Given the description of an element on the screen output the (x, y) to click on. 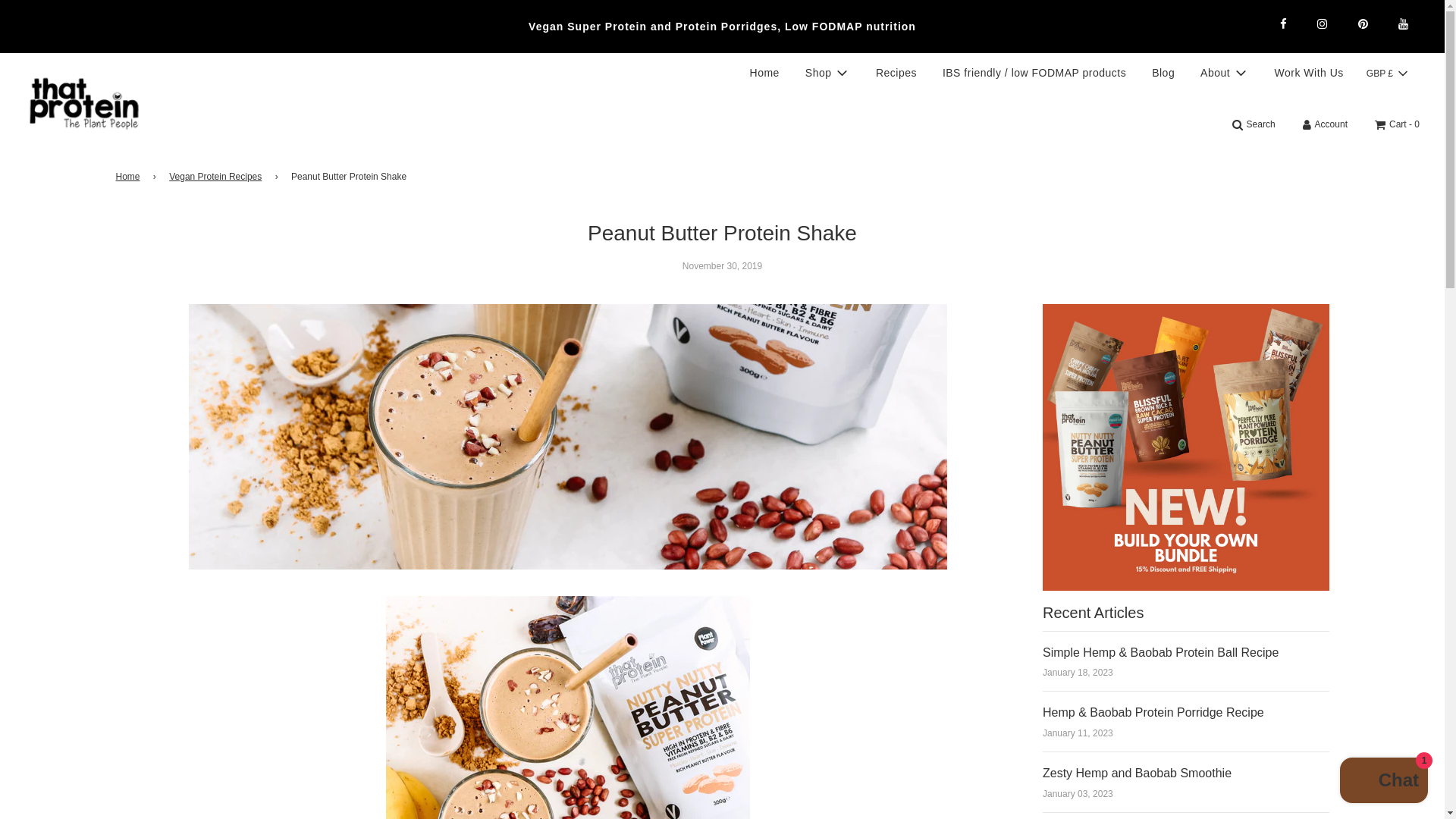
Shopify online store chat (1383, 781)
Log in (1324, 124)
Back to the frontpage (129, 176)
